Given the description of an element on the screen output the (x, y) to click on. 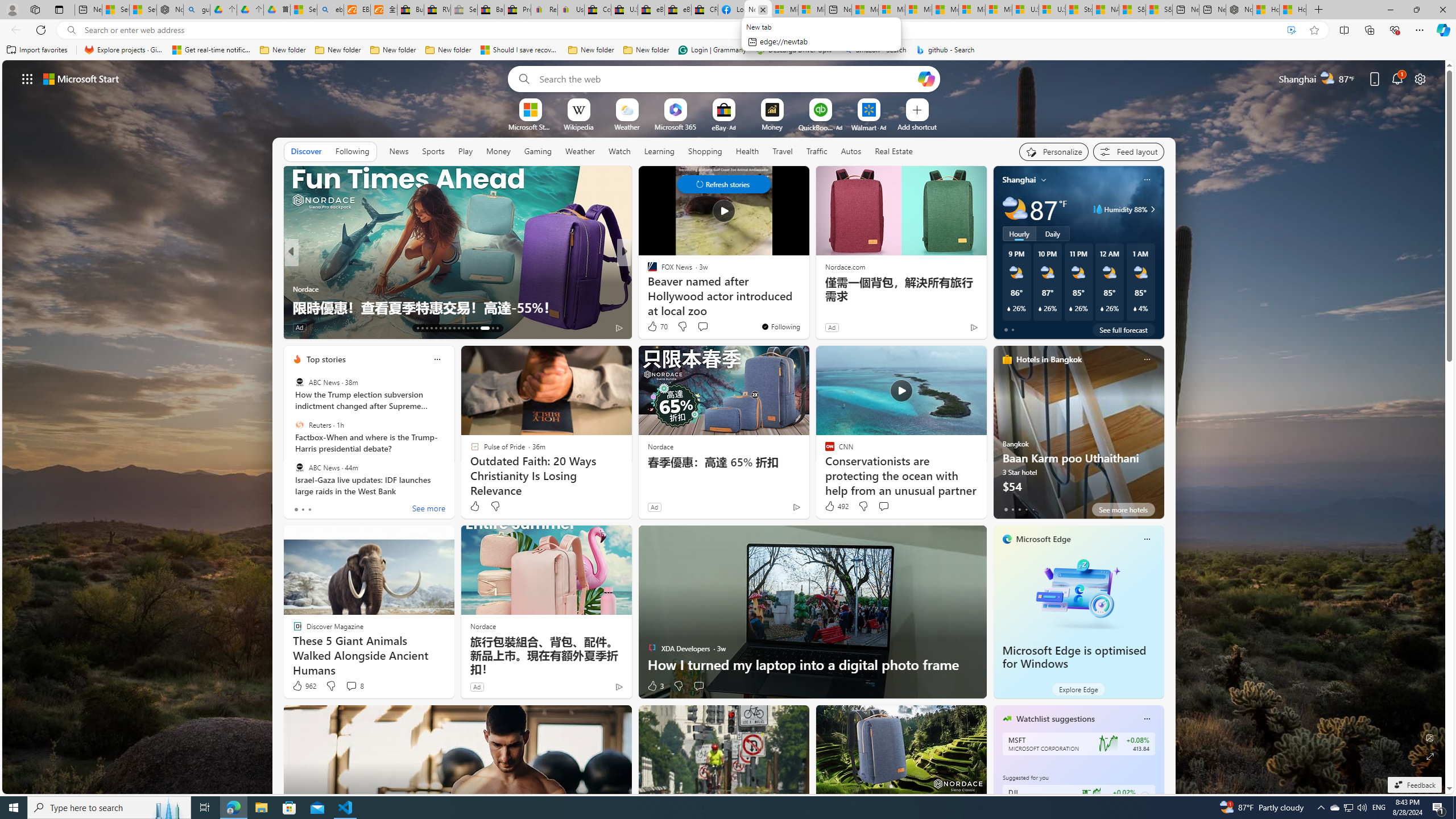
Travel (782, 151)
AutomationID: tab-25 (472, 328)
Hide this story (774, 179)
Sell worldwide with eBay - Sleeping (463, 9)
Buy Auto Parts & Accessories | eBay (411, 9)
Enhance video (1291, 29)
Microsoft Edge is optimised for Windows (1077, 592)
2 hours of Extreme Shark Encounters (807, 307)
Real Wild (647, 288)
Partly cloudy (1014, 208)
Money (497, 151)
